Given the description of an element on the screen output the (x, y) to click on. 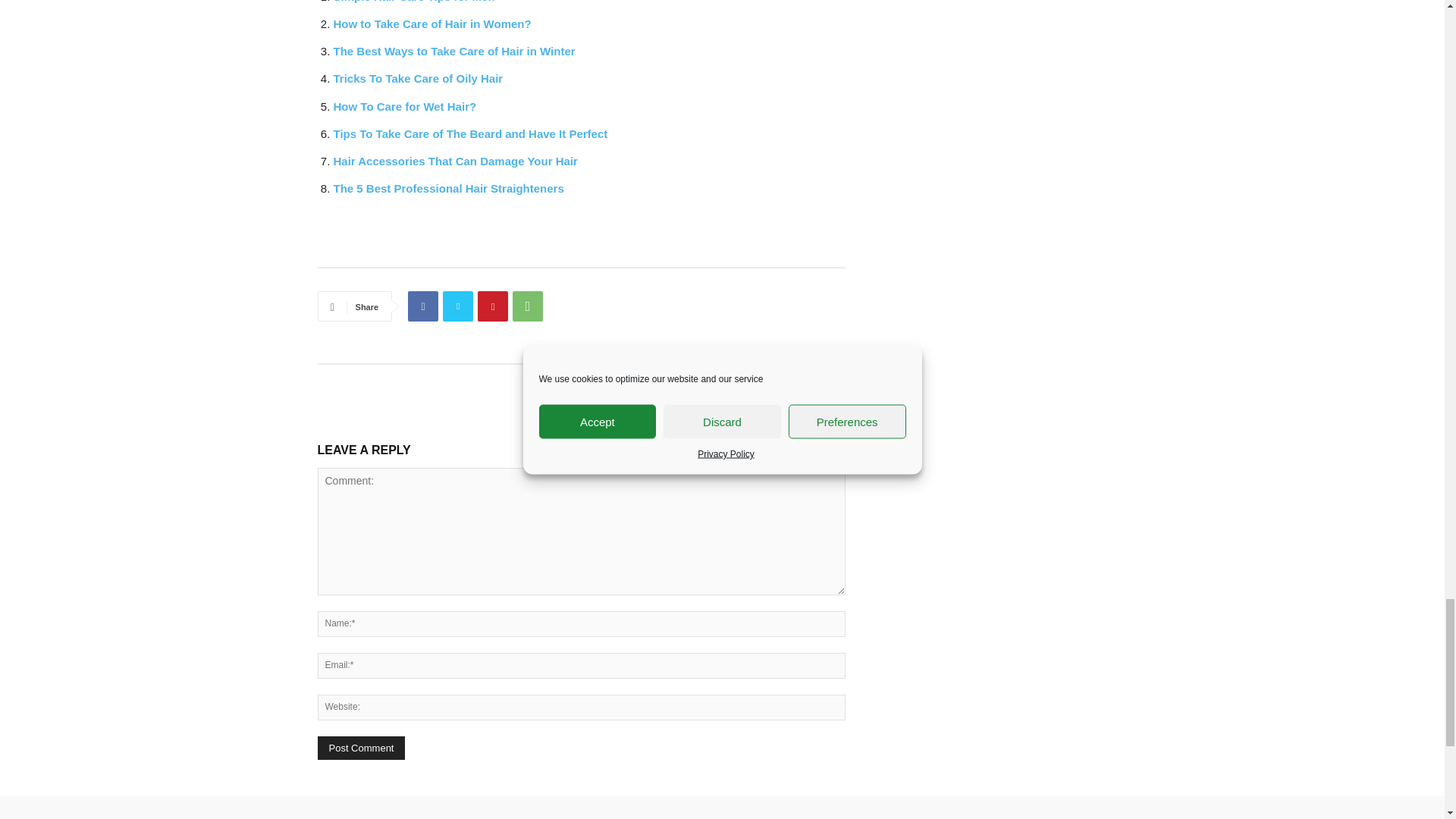
The Best Ways to Take Care of Hair in Winter (454, 51)
Post Comment (360, 748)
Simple Hair Care Tips for Men (414, 1)
How to Take Care of Hair in Women? (432, 23)
